Given the description of an element on the screen output the (x, y) to click on. 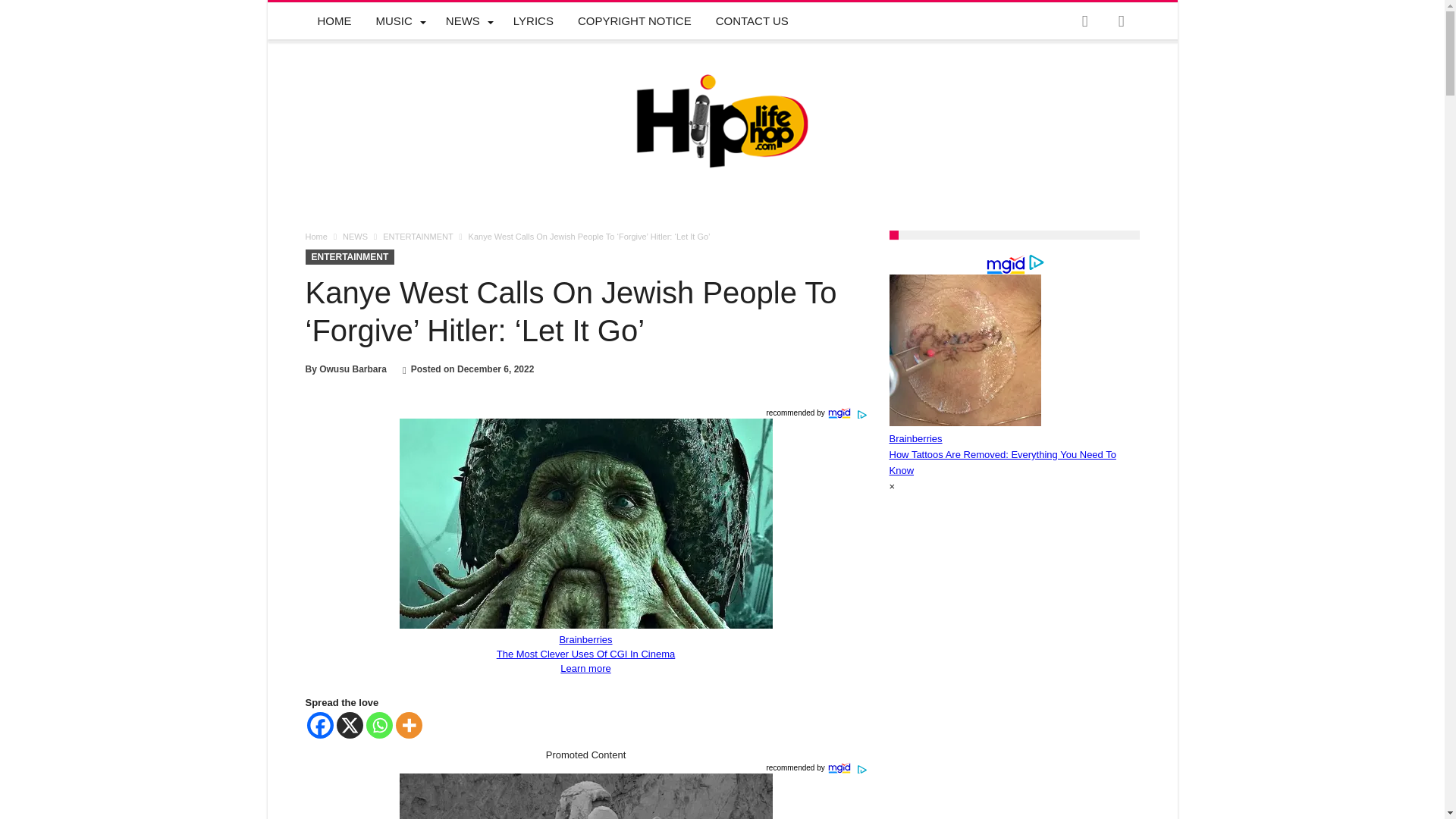
Facebook (319, 724)
Whatsapp (378, 724)
X (349, 724)
ENTERTAINMENT (417, 235)
NEWS (355, 235)
MUSIC (398, 21)
LYRICS (533, 21)
COPYRIGHT NOTICE (634, 21)
Home (315, 235)
HOME (333, 21)
